Given the description of an element on the screen output the (x, y) to click on. 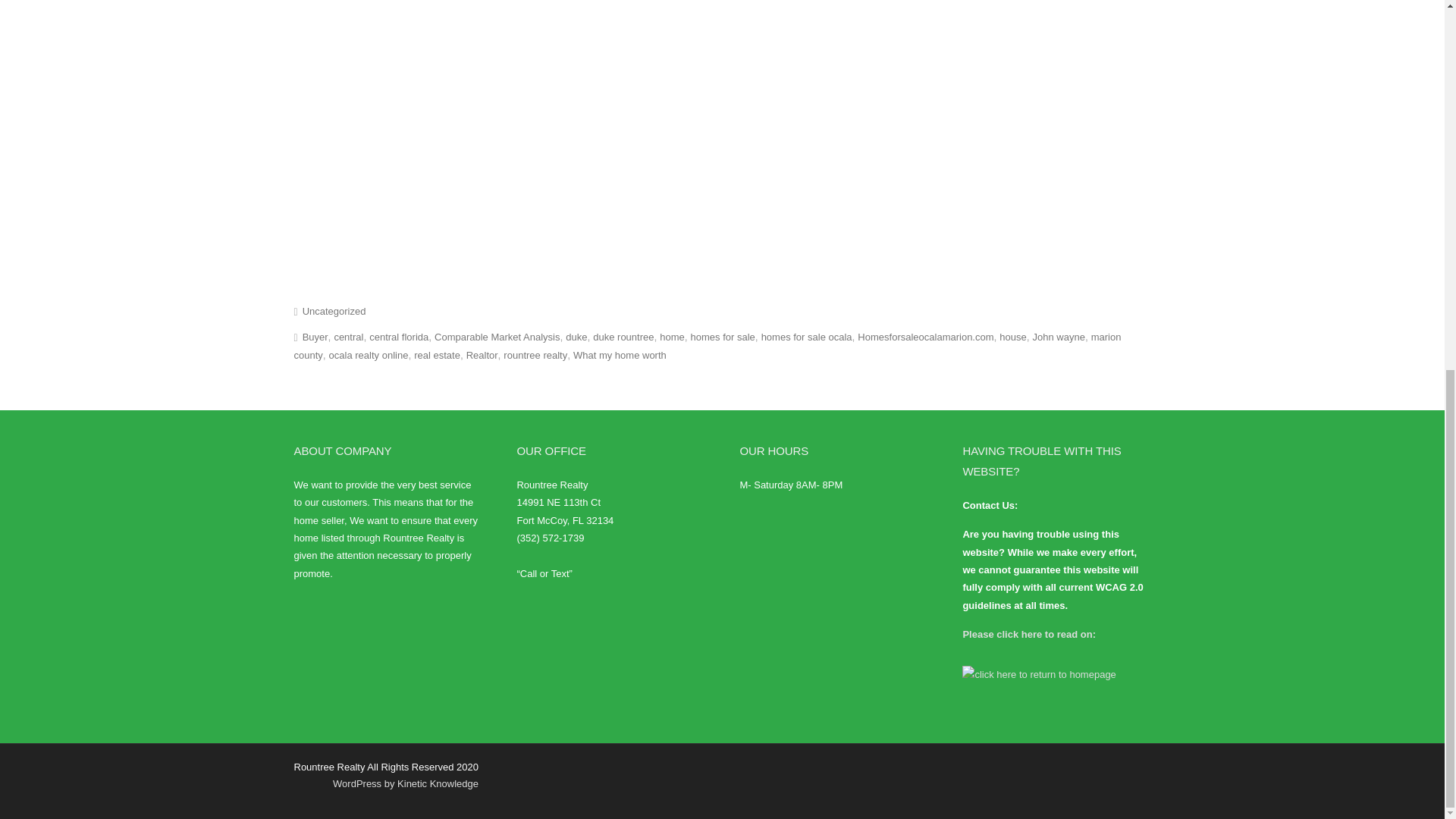
Buyer (315, 337)
Uncategorized (334, 310)
duke (576, 337)
central (347, 337)
central florida (398, 337)
Comparable Market Analysis (496, 337)
